Given the description of an element on the screen output the (x, y) to click on. 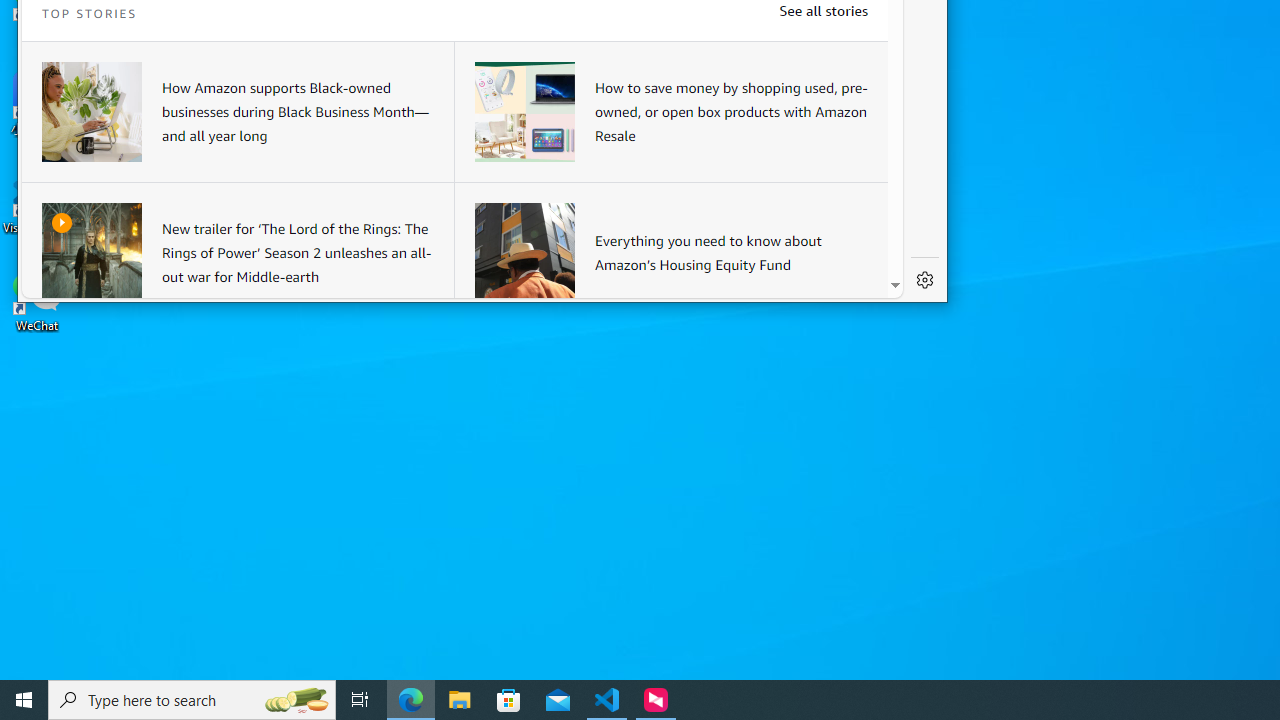
Start (24, 699)
Search highlights icon opens search home window (295, 699)
Type here to search (191, 699)
Microsoft Edge - 1 running window (411, 699)
See all stories (823, 10)
Task View (359, 699)
File Explorer (460, 699)
Settings (925, 280)
